Given the description of an element on the screen output the (x, y) to click on. 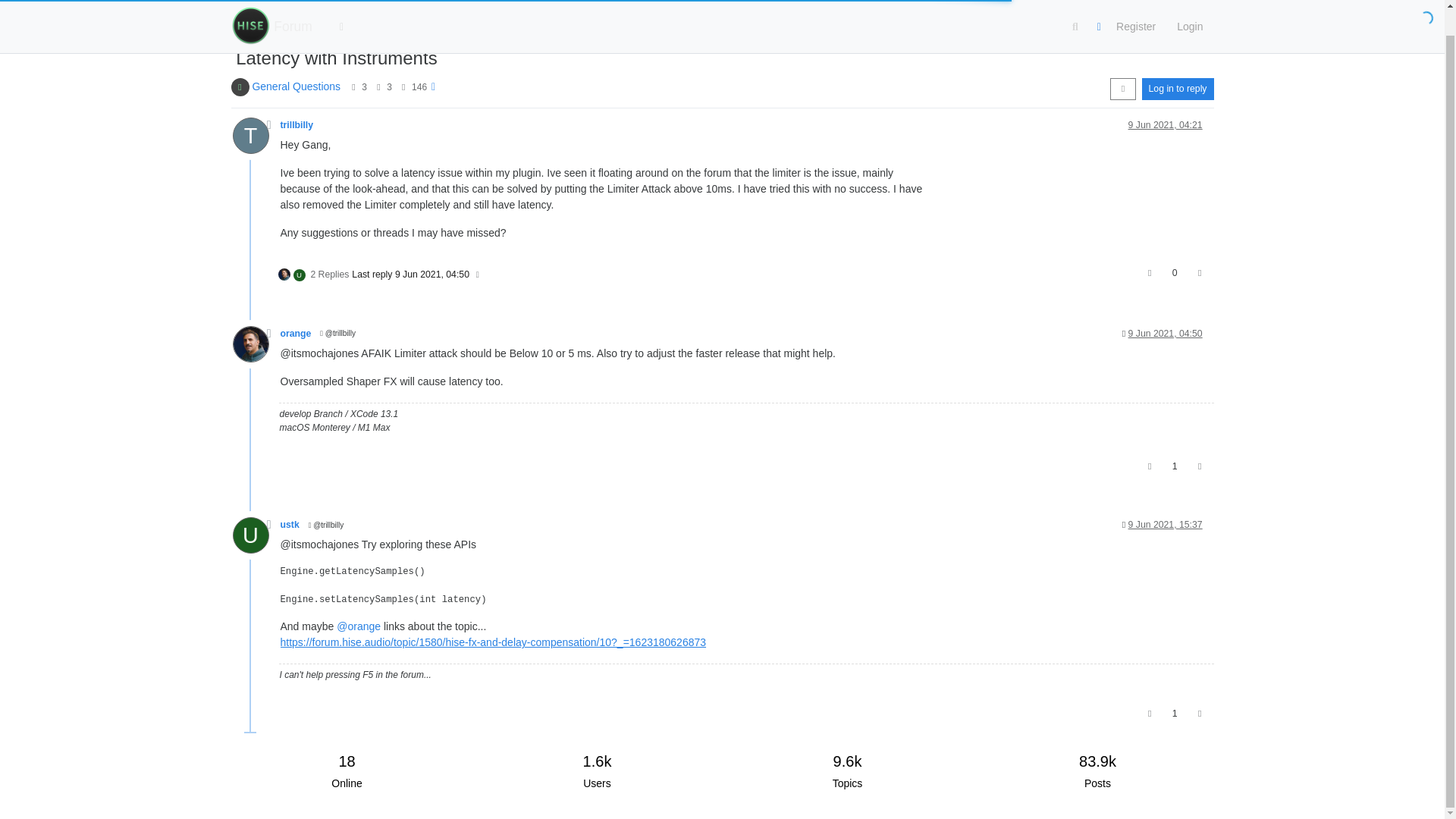
orange (296, 333)
Log in to reply (1177, 88)
Posts (378, 86)
Register (1135, 7)
General Questions (295, 86)
146 (419, 86)
T (255, 139)
trillbilly (249, 135)
Forum (293, 7)
